Given the description of an element on the screen output the (x, y) to click on. 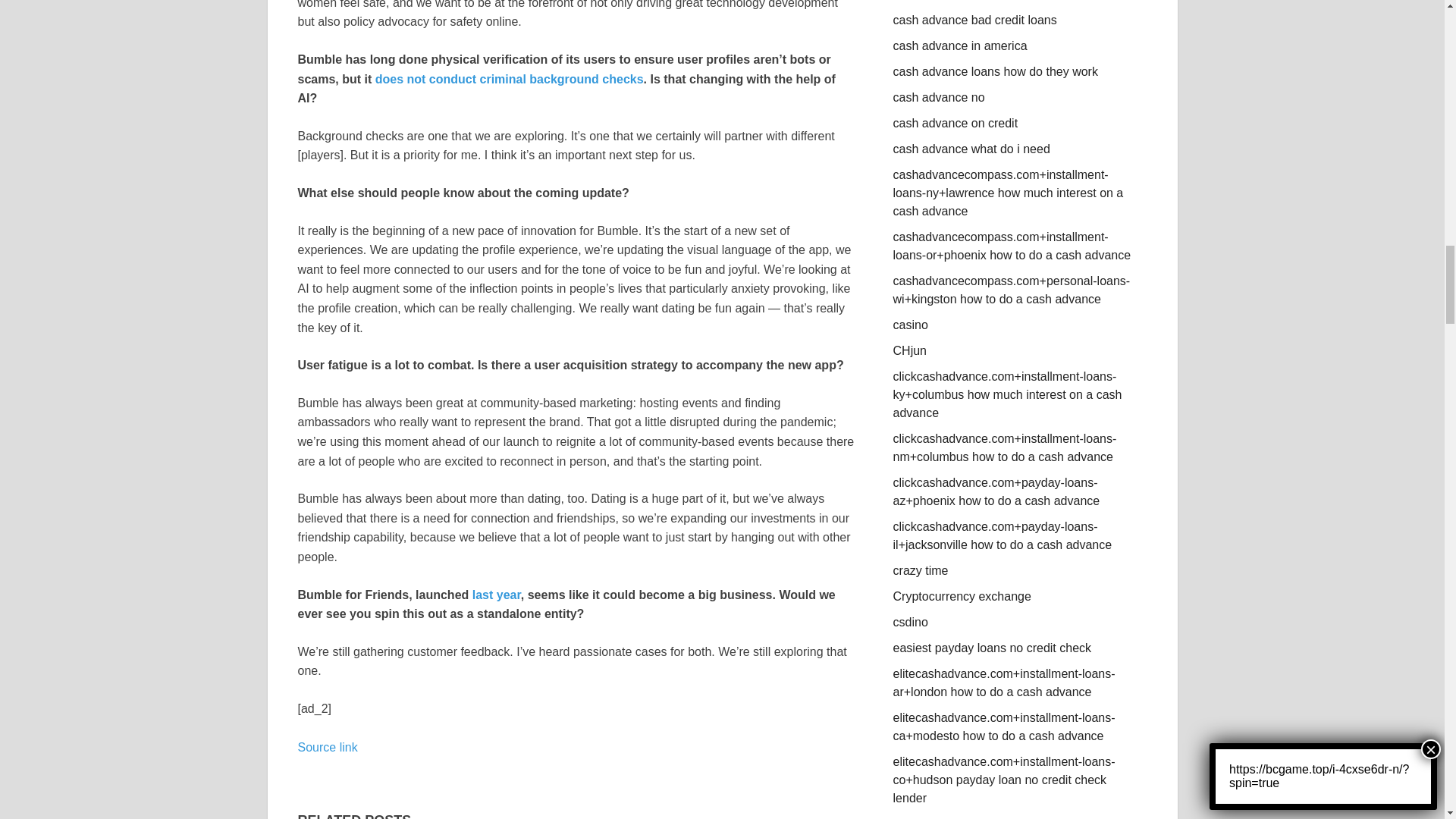
Source link (326, 747)
does not conduct criminal background checks (509, 78)
last year (496, 594)
